Given the description of an element on the screen output the (x, y) to click on. 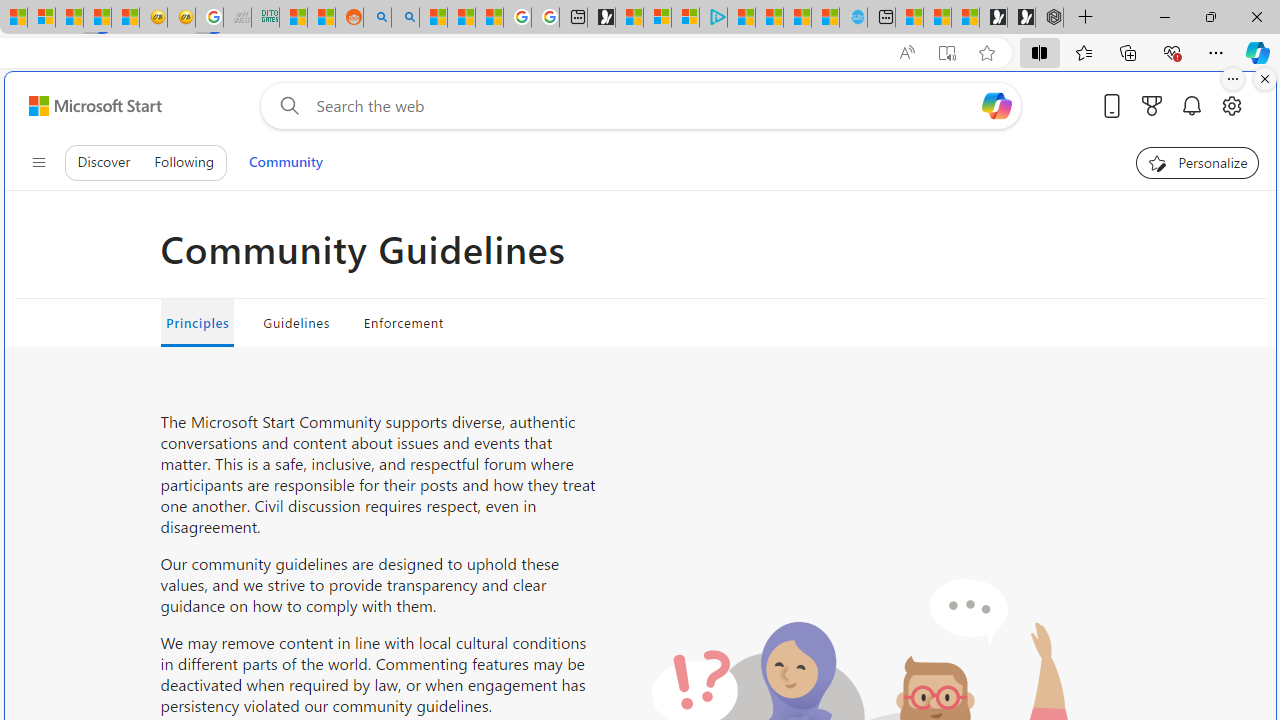
More options. (1233, 79)
Utah sues federal government - Search (404, 17)
DITOGAMES AG Imprint (265, 17)
Microsoft rewards (1151, 105)
Enter Immersive Reader (F9) (946, 53)
Principles (197, 322)
Play Free Online Games | Games from Microsoft Start (1021, 17)
Navy Quest (237, 17)
